Given the description of an element on the screen output the (x, y) to click on. 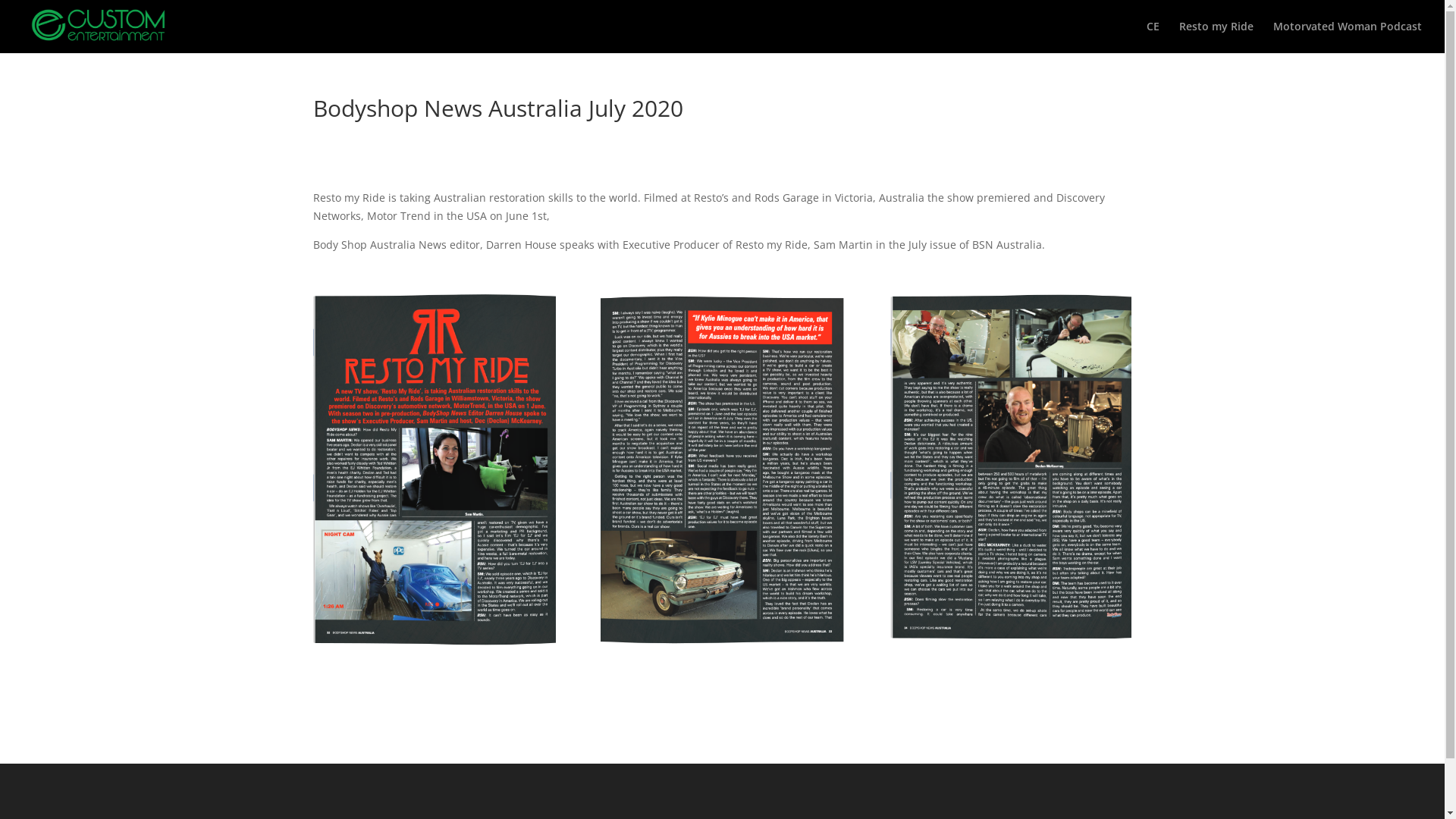
Resto my Ride Element type: text (1216, 37)
CE Element type: text (1152, 37)
Motorvated Woman Podcast Element type: text (1347, 37)
